Given the description of an element on the screen output the (x, y) to click on. 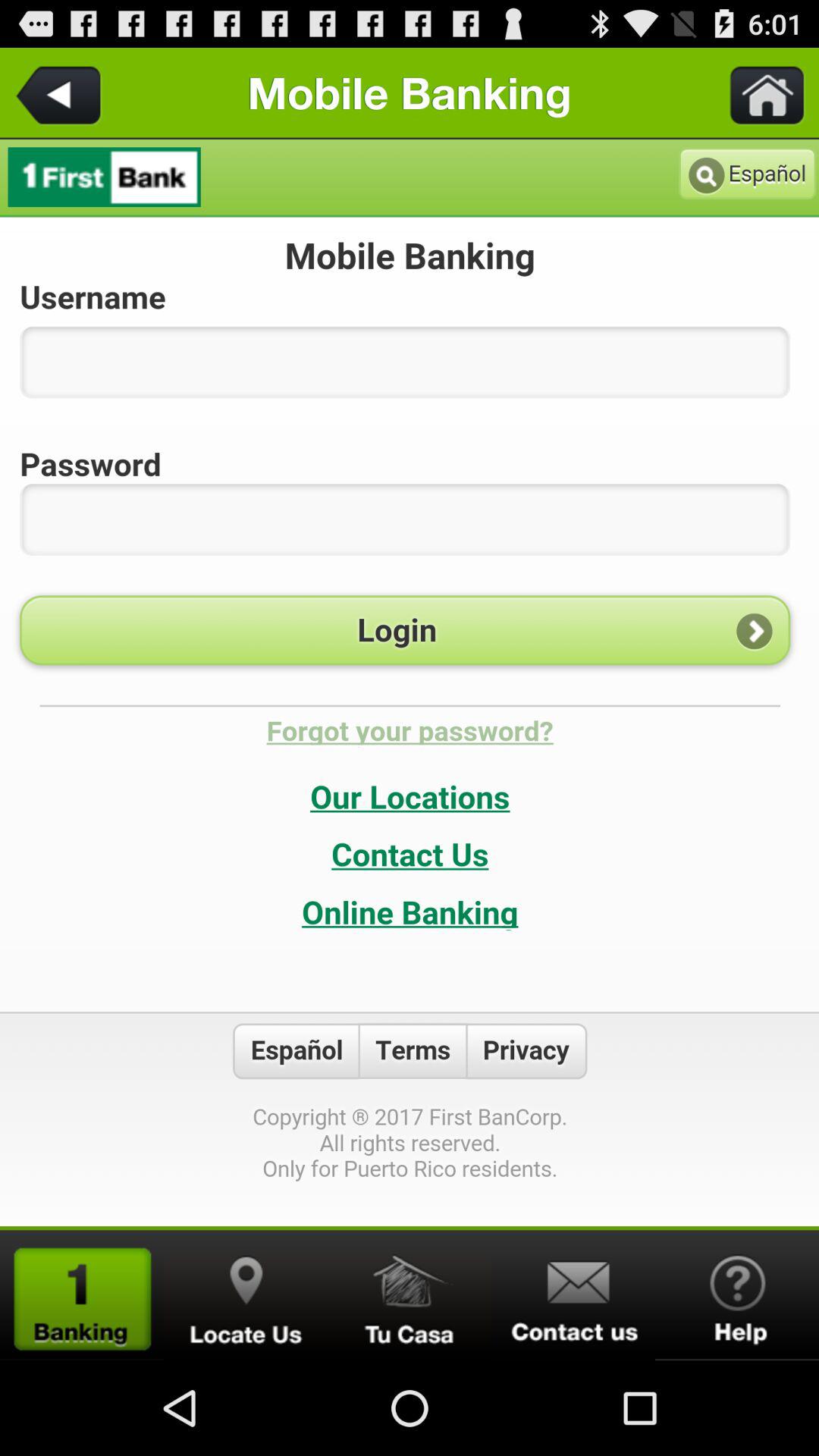
go back (61, 92)
